Given the description of an element on the screen output the (x, y) to click on. 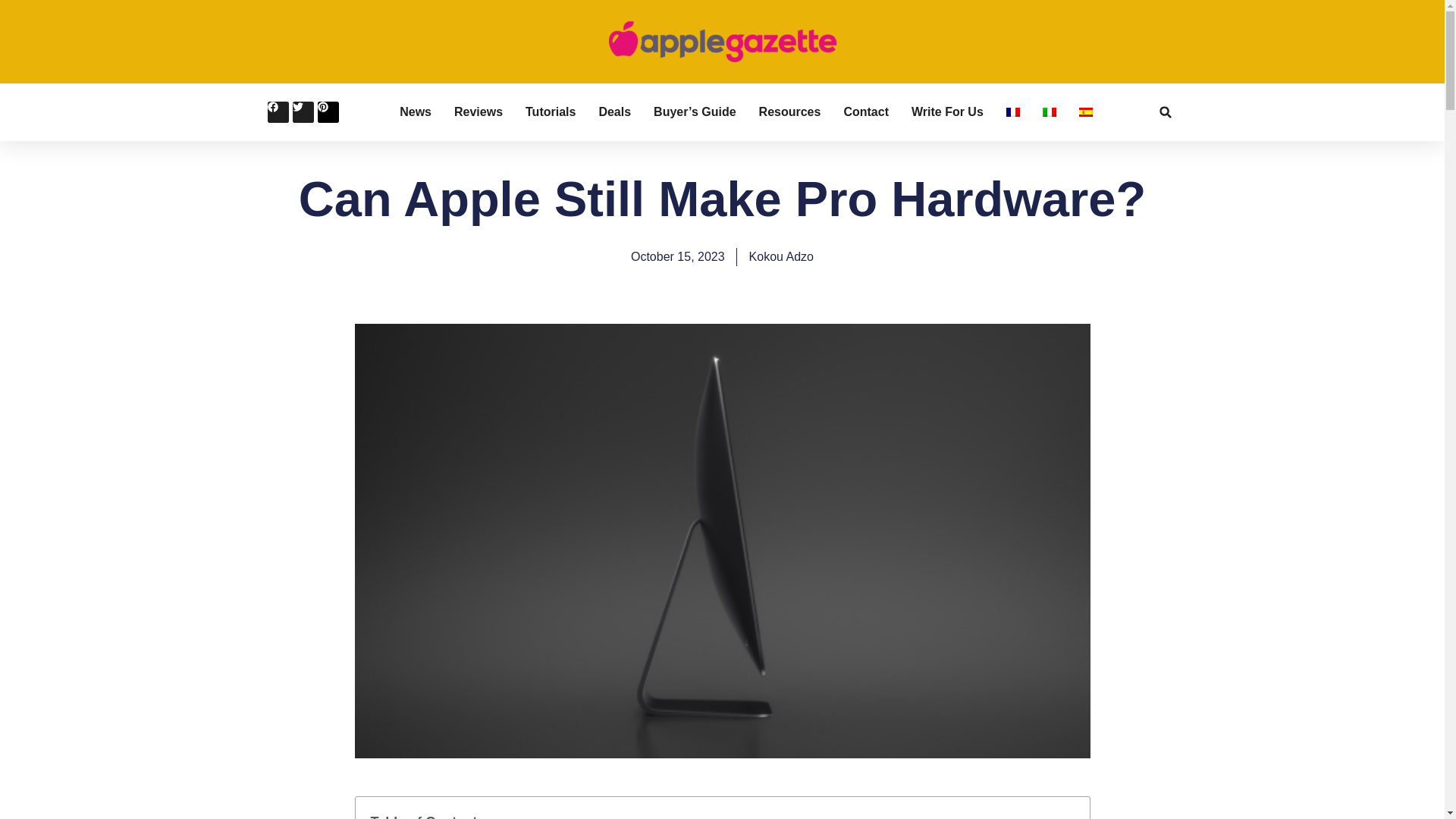
Deals (614, 112)
Tutorials (550, 112)
Reviews (478, 112)
Contact (865, 112)
Write For Us (947, 112)
News (414, 112)
Resources (789, 112)
